Given the description of an element on the screen output the (x, y) to click on. 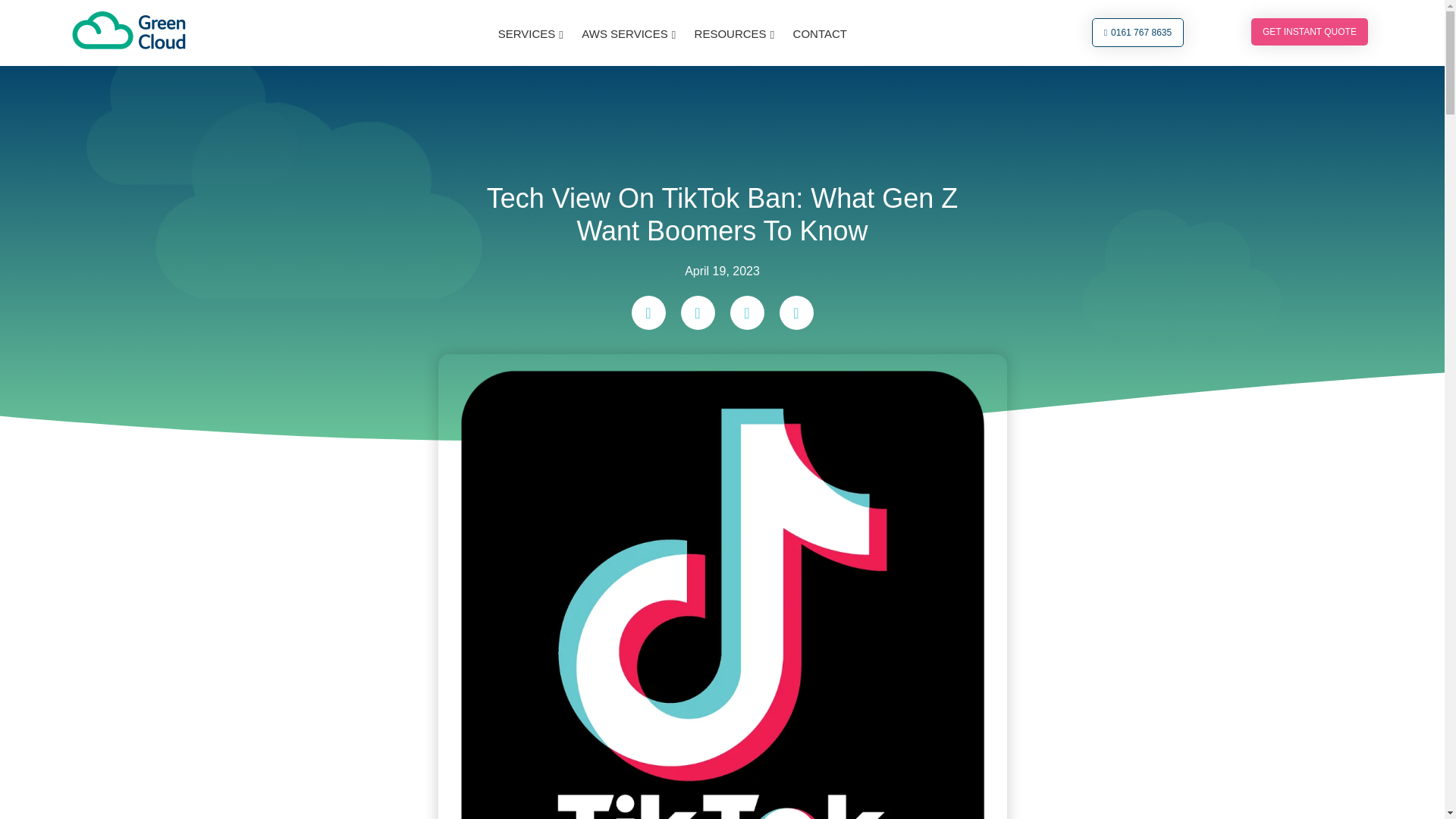
Green-Cloud-logo-original (128, 29)
0161 767 8635 (1137, 32)
Contact (819, 34)
RESOURCES (734, 34)
SERVICES (531, 34)
CONTACT (819, 34)
AWS Services (628, 34)
Resources (734, 34)
AWS SERVICES (628, 34)
Services (531, 34)
